Given the description of an element on the screen output the (x, y) to click on. 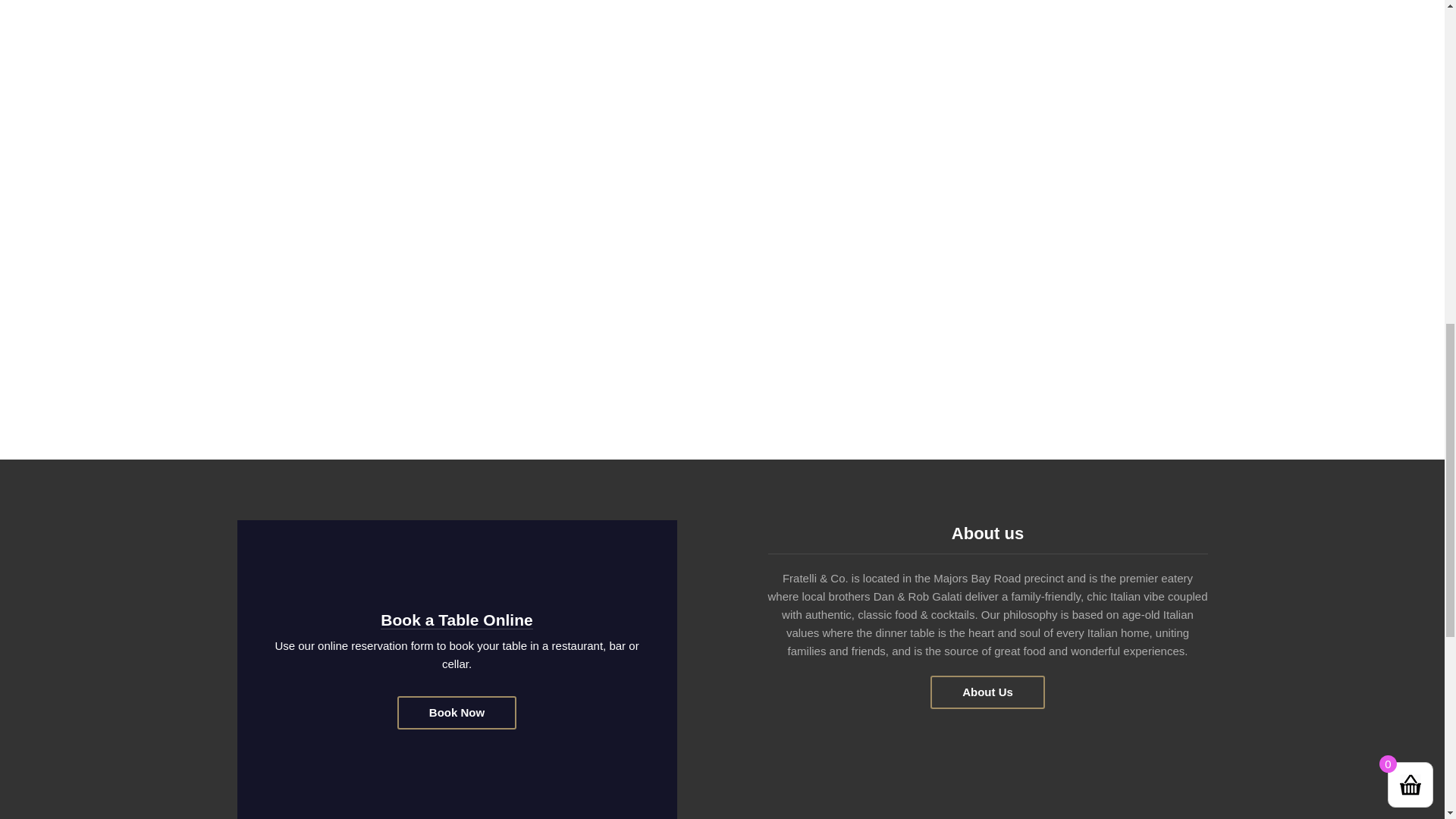
Book a Table Online (456, 619)
Book Now (456, 712)
About Us (987, 692)
